Given the description of an element on the screen output the (x, y) to click on. 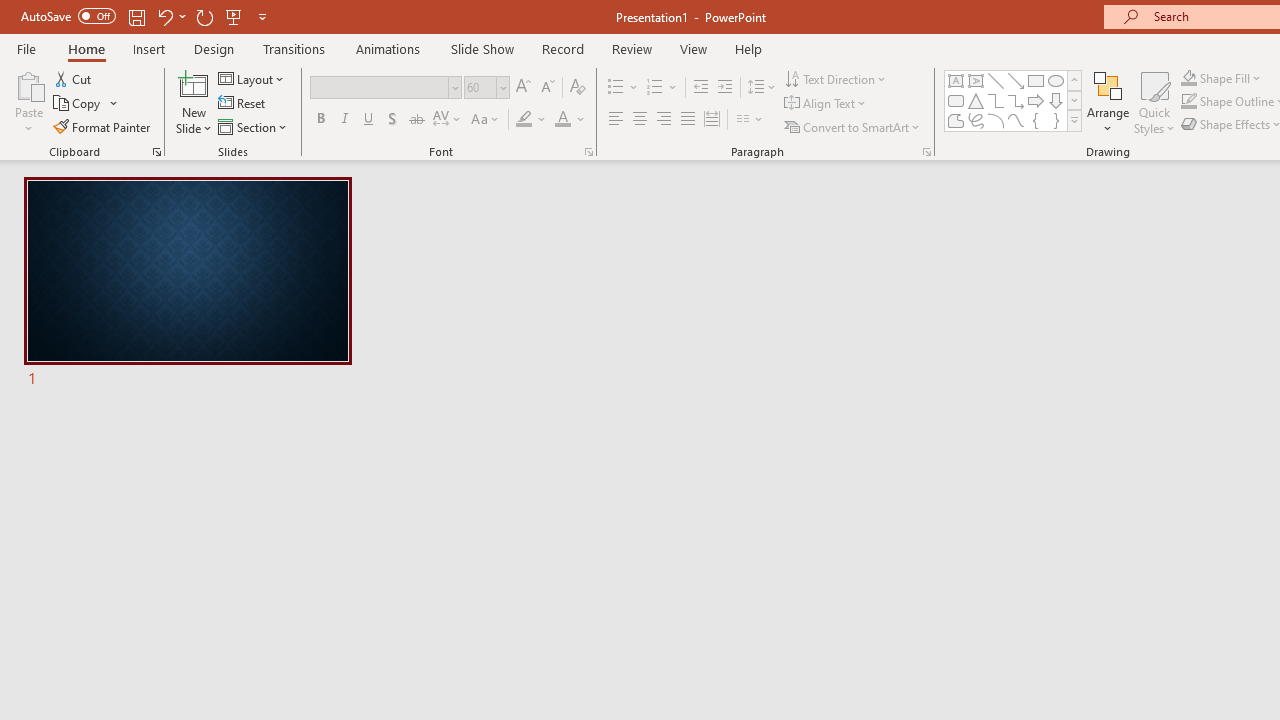
Clear Formatting (577, 87)
Font Size (486, 87)
New Slide (193, 84)
System (10, 11)
Section (254, 126)
Increase Indent (725, 87)
Arrow: Right (1035, 100)
Help (748, 48)
File Tab (26, 48)
Shapes (1074, 120)
Change Case (486, 119)
Row Down (1074, 100)
Transitions (294, 48)
Bold (320, 119)
Connector: Elbow Arrow (1016, 100)
